Given the description of an element on the screen output the (x, y) to click on. 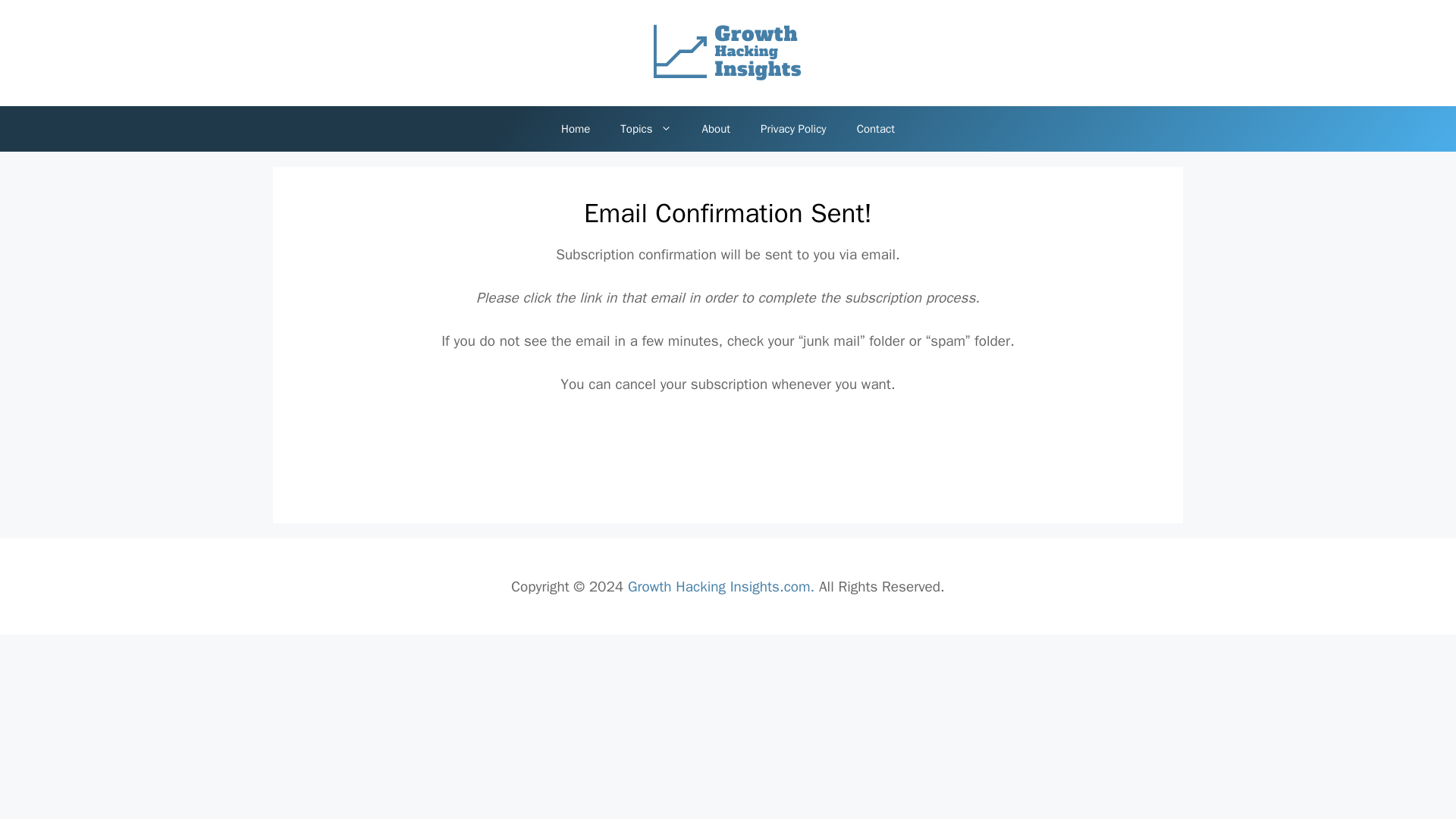
Topics (645, 128)
Privacy Policy (793, 128)
About (716, 128)
Contact (875, 128)
Home (575, 128)
Growth Hacking Insights.com. (720, 587)
